Given the description of an element on the screen output the (x, y) to click on. 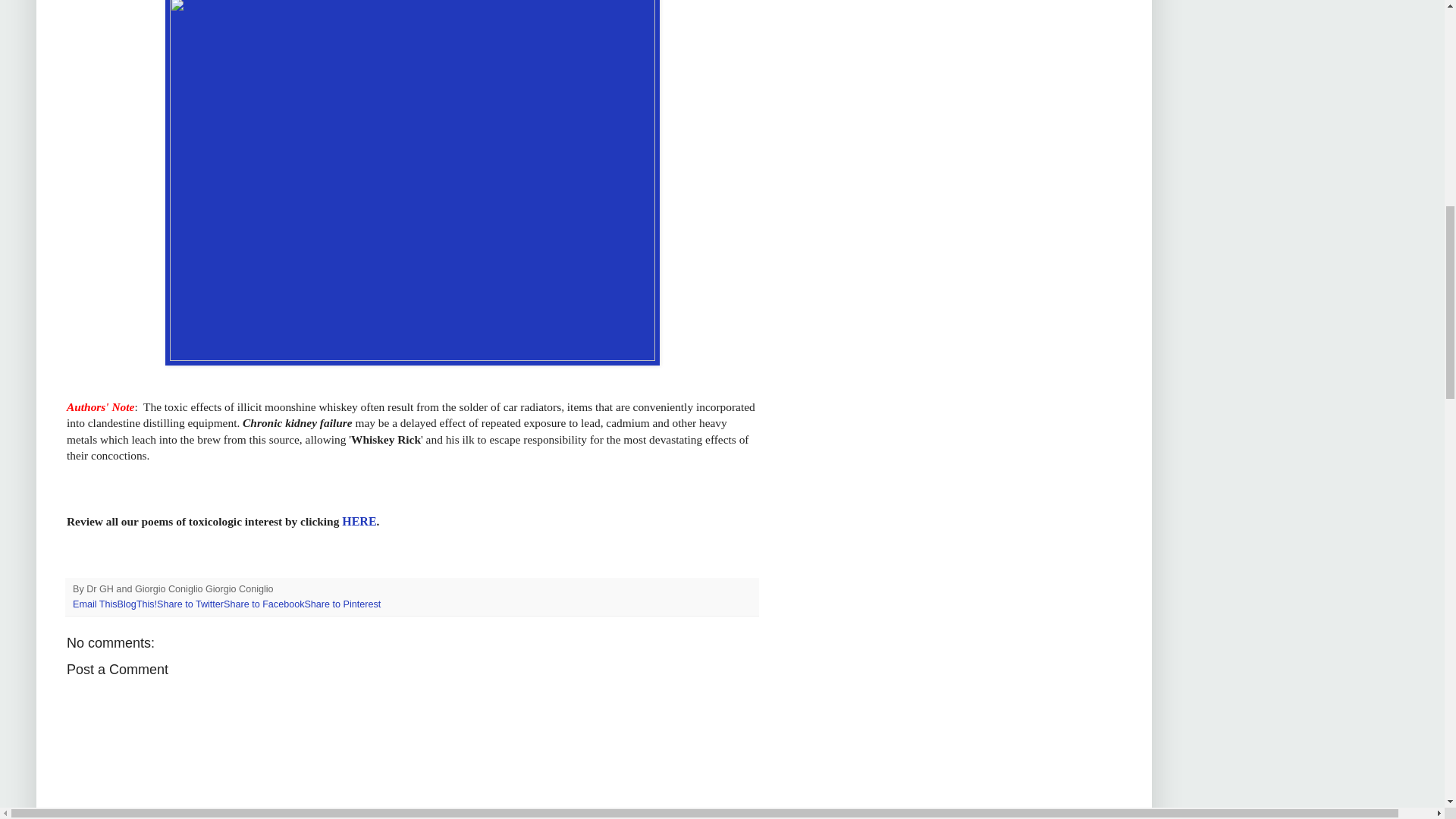
Email Post (282, 588)
Share to Facebook (264, 603)
BlogThis! (137, 603)
Share to Twitter (190, 603)
HERE (358, 521)
BlogThis! (137, 603)
Share to Facebook (264, 603)
Share to Pinterest (342, 603)
Share to Pinterest (342, 603)
Email This (94, 603)
Email This (94, 603)
Share to Twitter (190, 603)
